Given the description of an element on the screen output the (x, y) to click on. 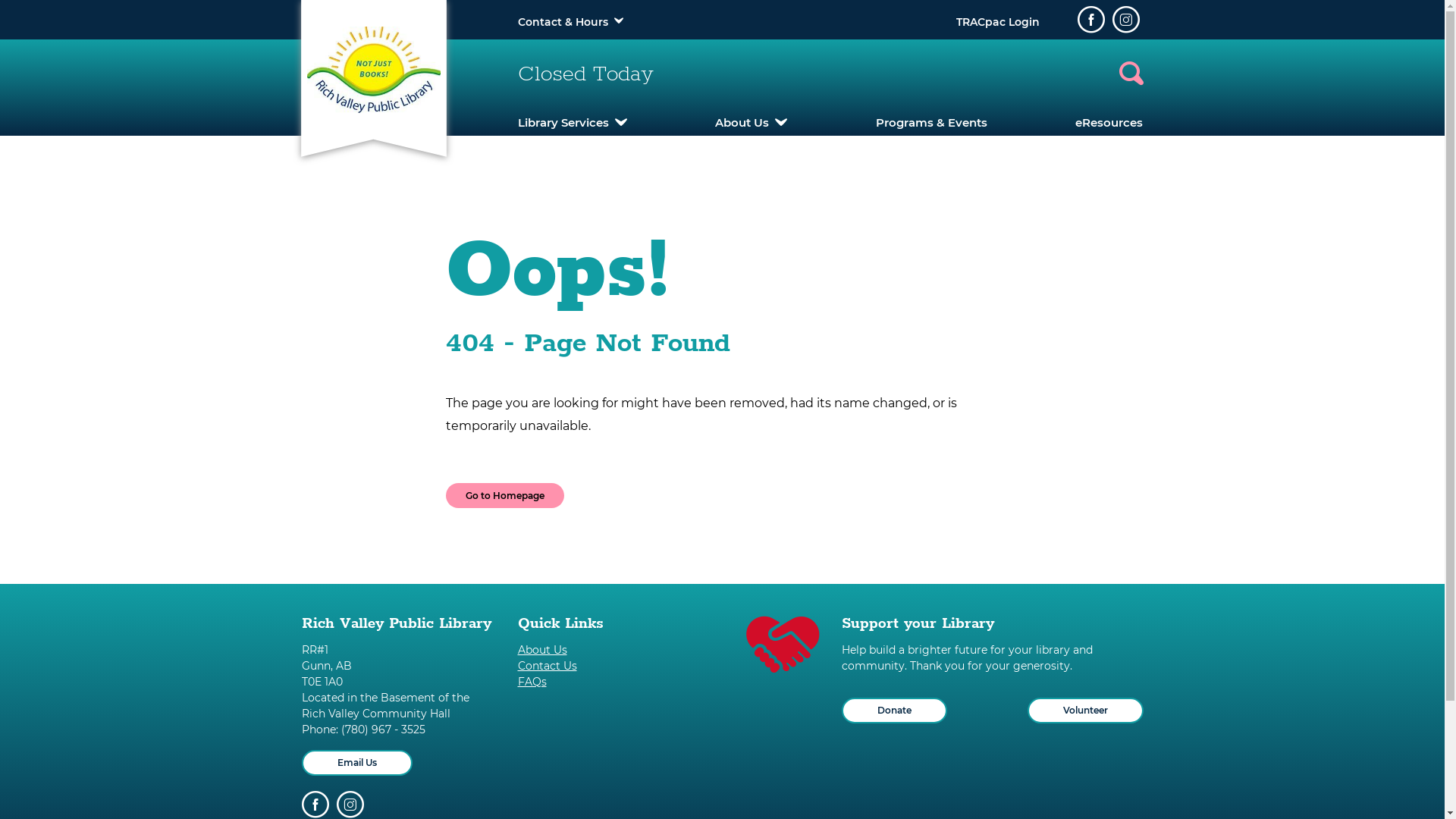
Donate Element type: text (894, 710)
Contact Us Element type: text (613, 666)
Rich Valley Public Library Element type: hover (372, 69)
TRACpac Login Element type: text (996, 21)
About Us Element type: text (613, 650)
Facebook Element type: hover (1090, 19)
Go to Homepage Element type: text (504, 495)
Instagram Element type: hover (350, 804)
Library Services Element type: text (571, 122)
Instagram Element type: hover (1125, 19)
FAQs Element type: text (613, 682)
eResources Element type: text (1108, 122)
Facebook Element type: hover (315, 804)
Contact & Hours Element type: text (562, 21)
Email Us Element type: text (356, 762)
About Us Element type: text (751, 122)
Volunteer Element type: text (1084, 710)
Programs & Events Element type: text (931, 122)
